Given the description of an element on the screen output the (x, y) to click on. 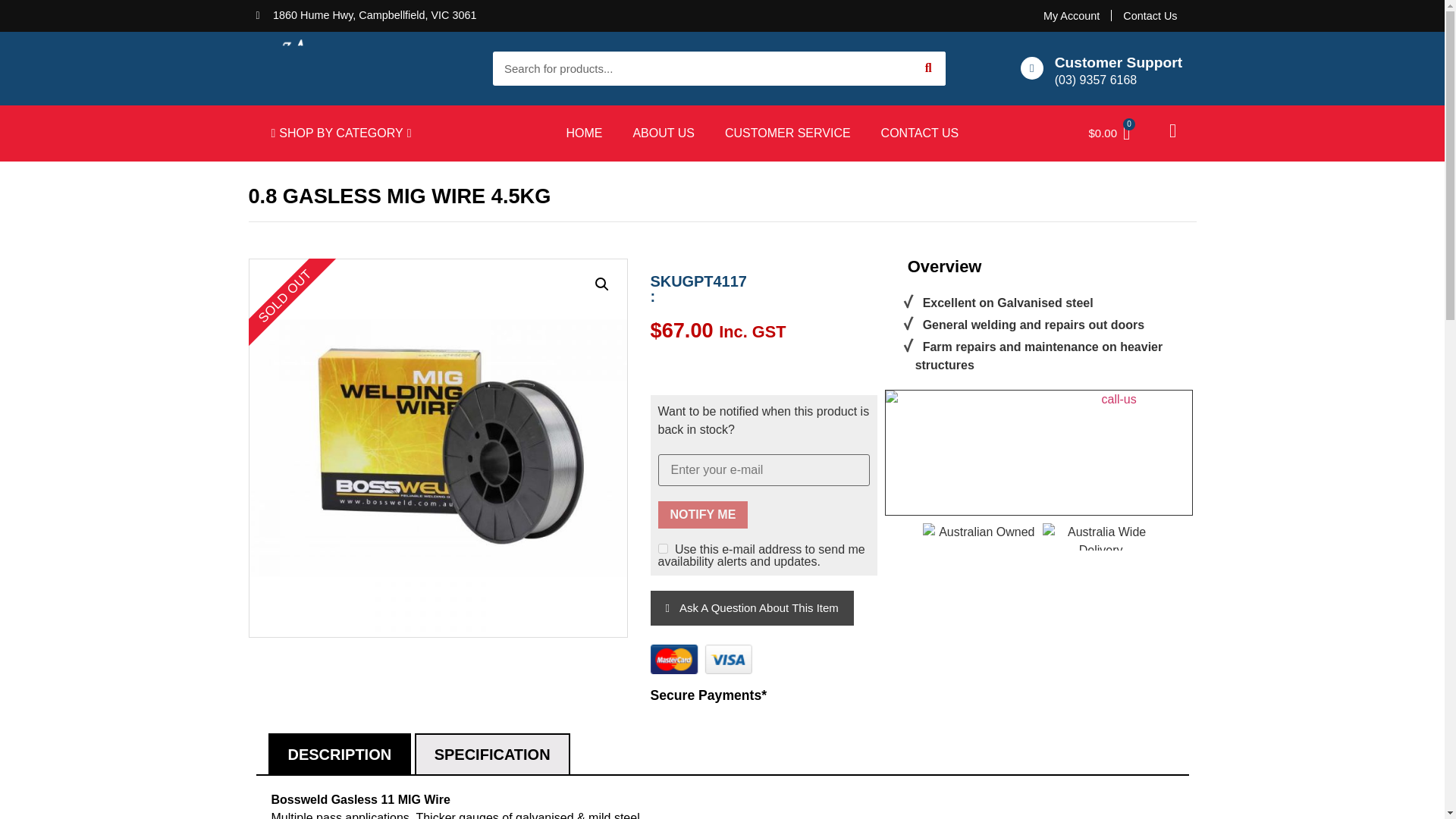
My Account (1071, 15)
on (663, 548)
Customer Support (1118, 62)
Contact Us (1150, 15)
